Given the description of an element on the screen output the (x, y) to click on. 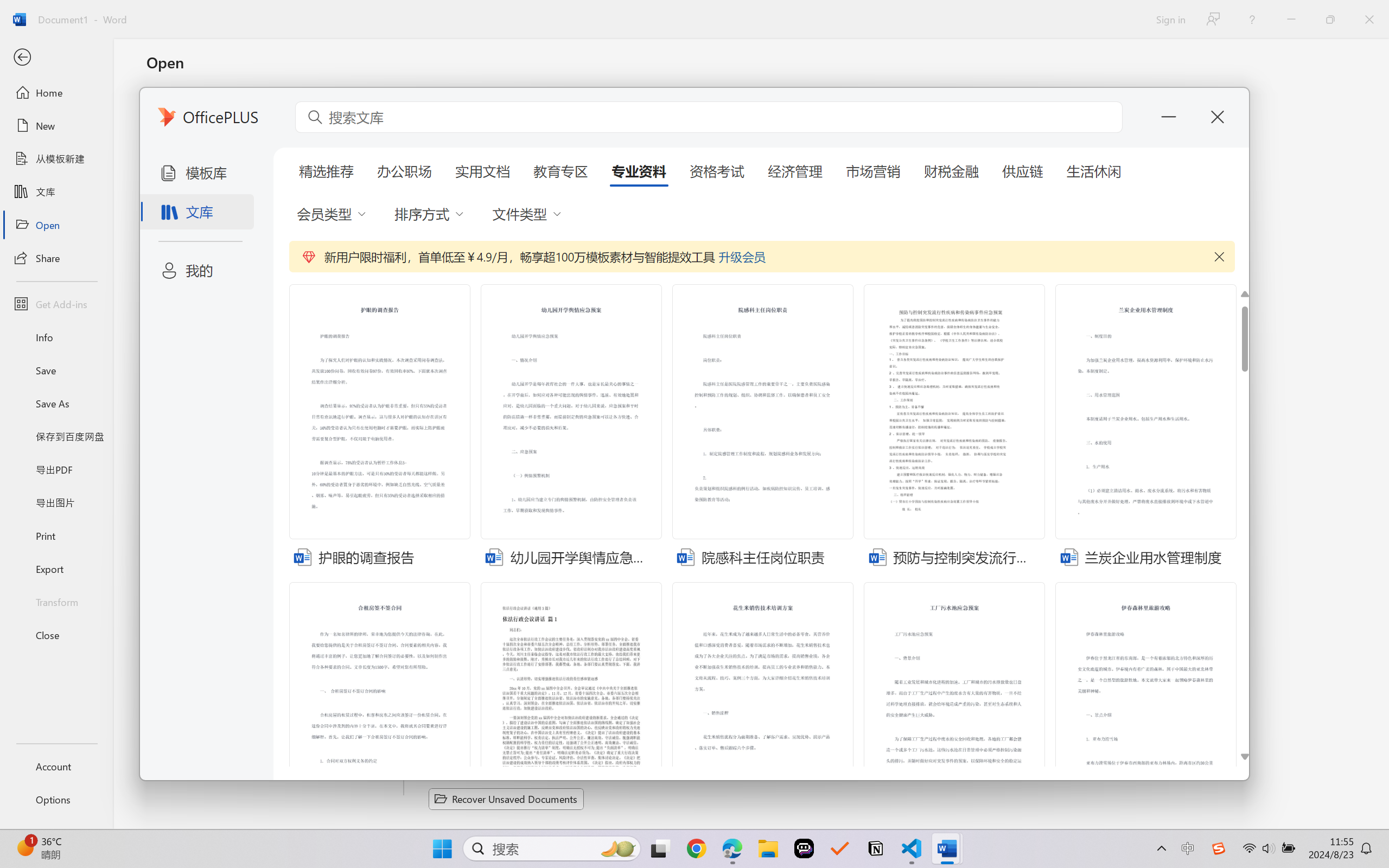
Transform (56, 601)
Recover Unsaved Documents (506, 798)
Info (56, 337)
